Given the description of an element on the screen output the (x, y) to click on. 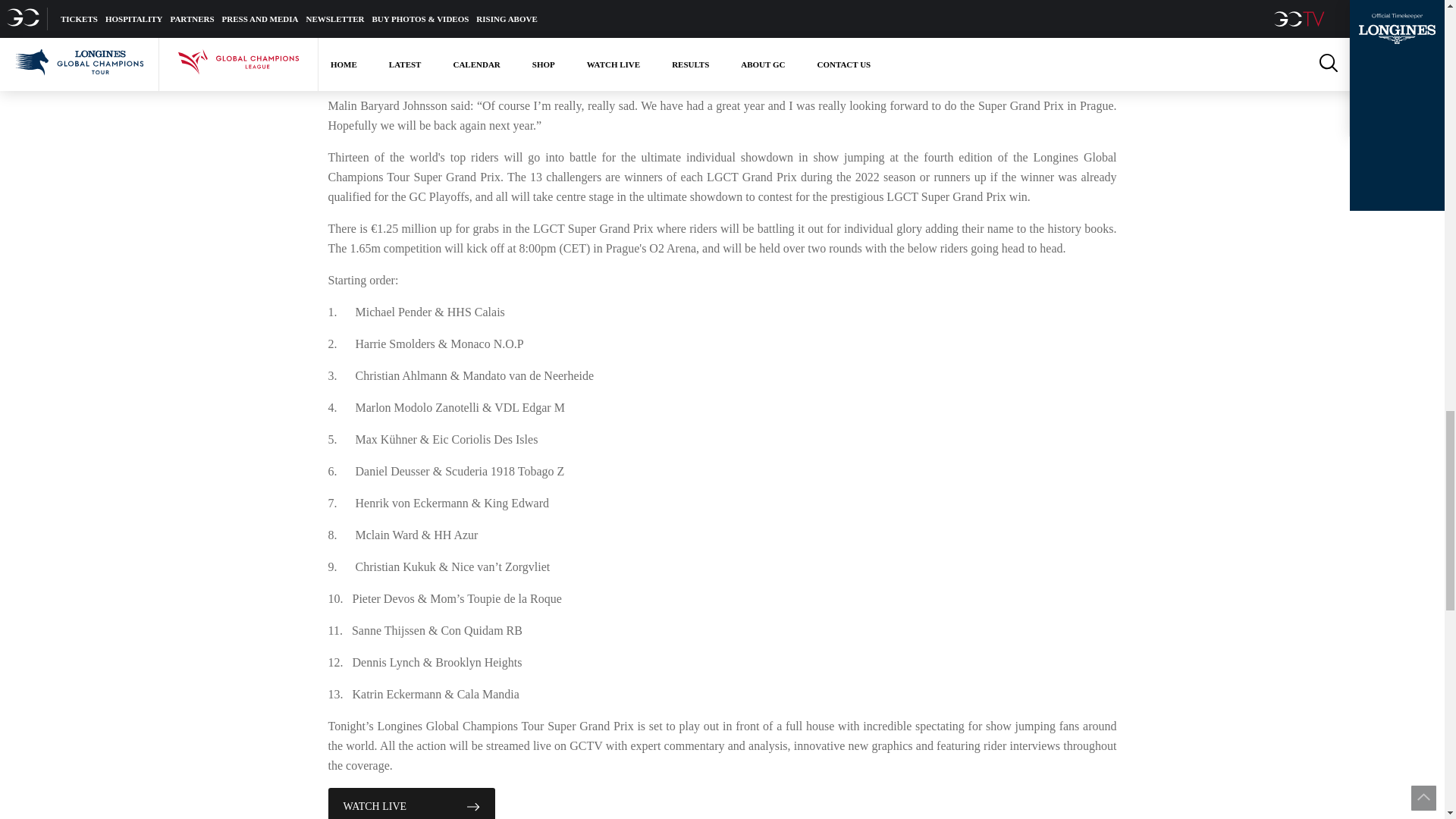
WATCH LIVE (411, 803)
